Given the description of an element on the screen output the (x, y) to click on. 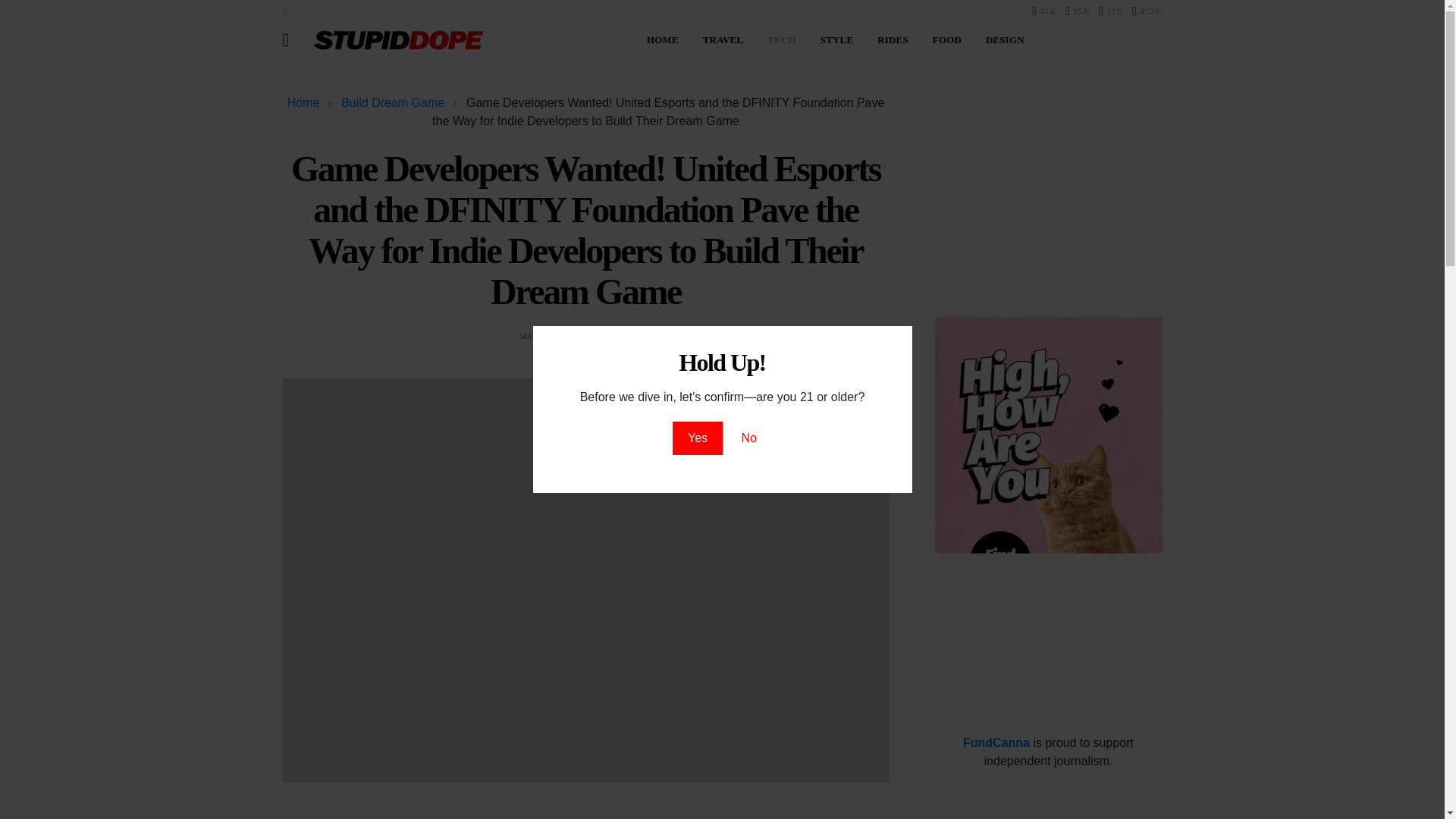
JANUARY 17, 2022 (617, 336)
Home (303, 102)
View all posts by Mason Cash (545, 336)
11K (1110, 10)
41K (1044, 10)
MASON CASH (545, 336)
95K (1077, 10)
453K (1146, 10)
Yes (697, 438)
TRAVEL (722, 39)
